Given the description of an element on the screen output the (x, y) to click on. 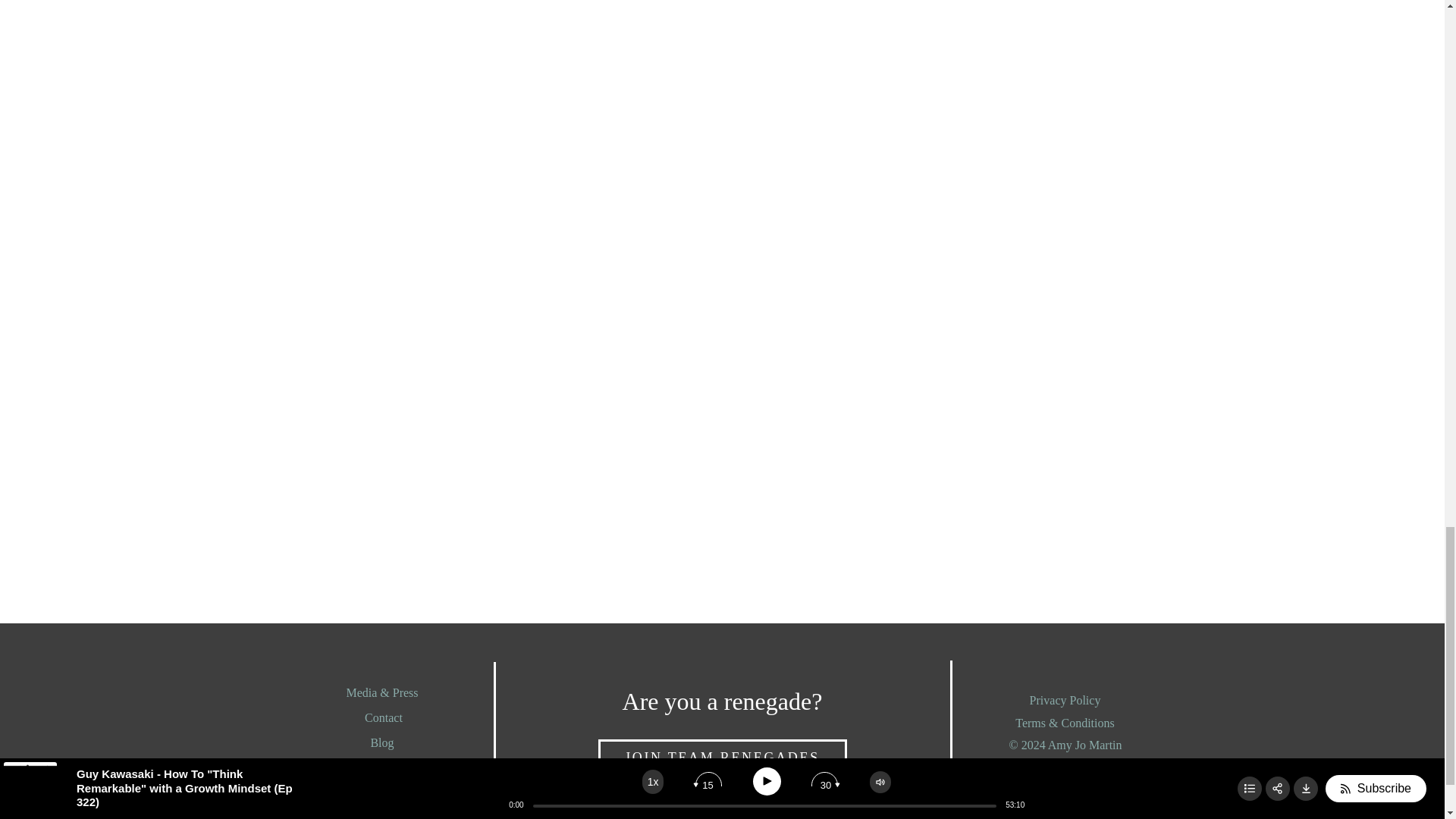
Blog (384, 744)
Contact (384, 719)
Design by Reformette (1064, 768)
Privacy Policy (1064, 702)
Home (384, 770)
